Given the description of an element on the screen output the (x, y) to click on. 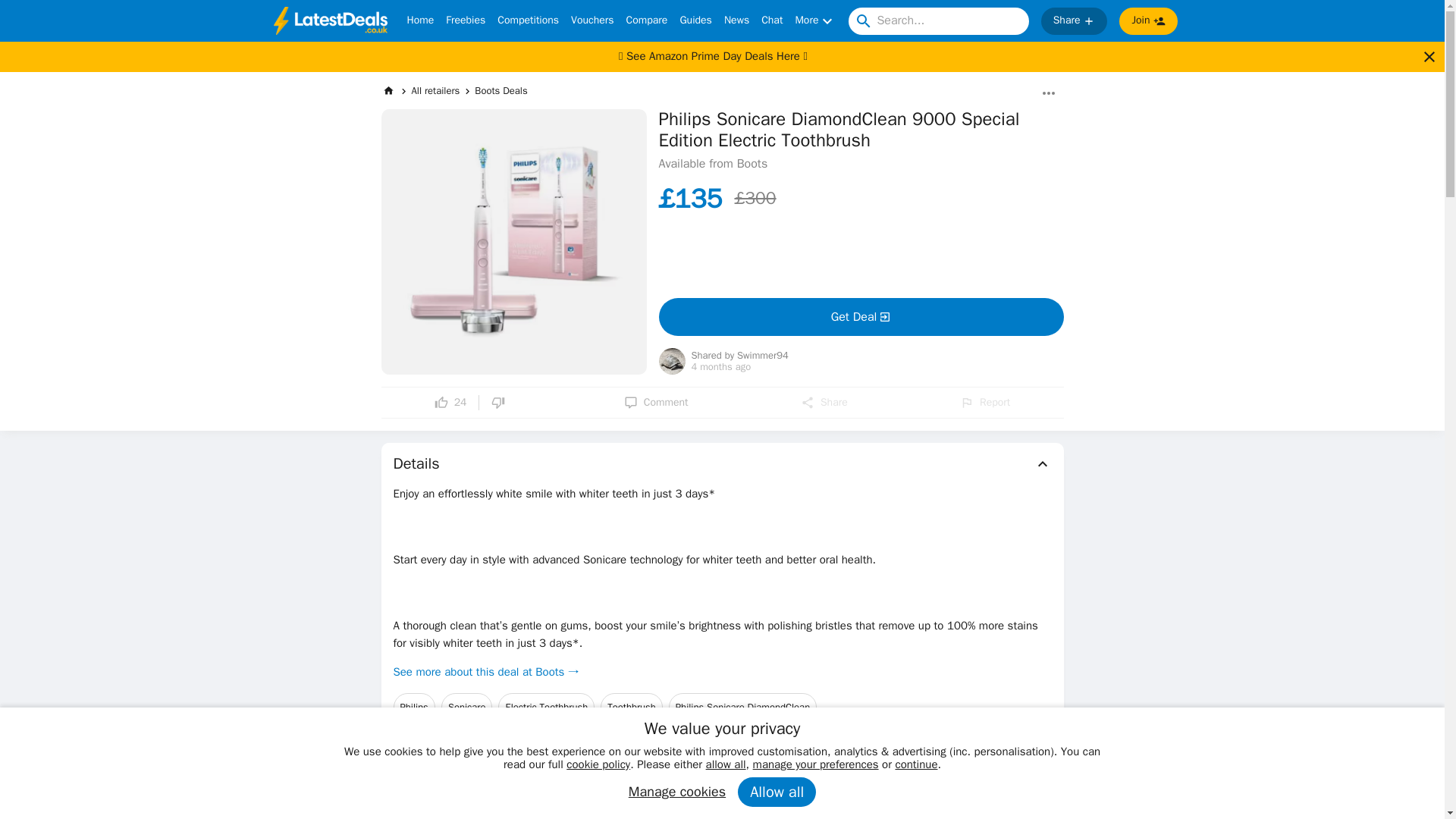
Comment (656, 402)
Chat (772, 21)
All retailers (435, 90)
24 (450, 402)
Home (419, 21)
Share (823, 402)
Sonicare (467, 706)
Vouchers (591, 21)
Shared by Swimmer94 (740, 355)
Guides (695, 21)
News (736, 21)
Competitions (528, 21)
Get Deal (860, 316)
Details (722, 464)
Electric Toothbrush (545, 706)
